Given the description of an element on the screen output the (x, y) to click on. 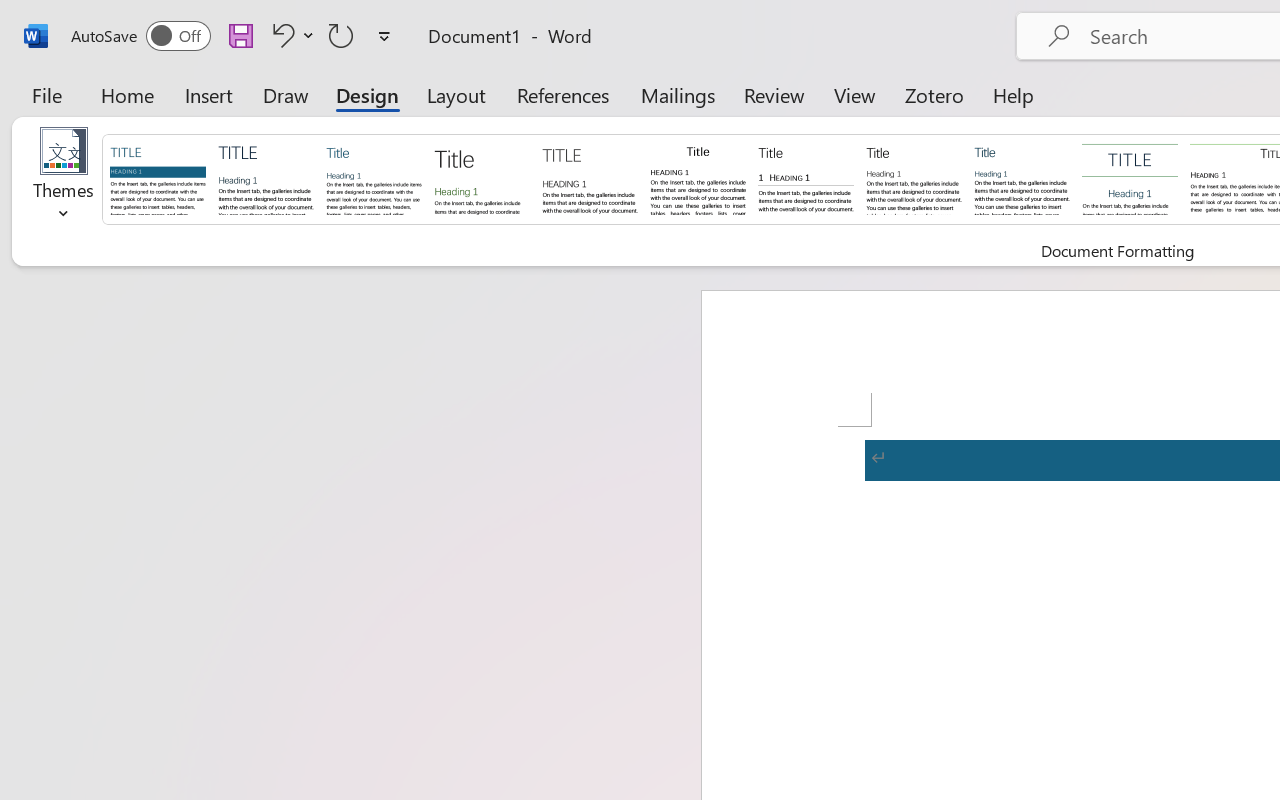
Black & White (Numbered) (806, 178)
Basic (Elegant) (266, 178)
Centered (1130, 178)
Black & White (Capitalized) (589, 178)
Basic (Simple) (373, 178)
Black & White (Word 2013) (913, 178)
Black & White (Classic) (697, 178)
Themes (63, 179)
